Given the description of an element on the screen output the (x, y) to click on. 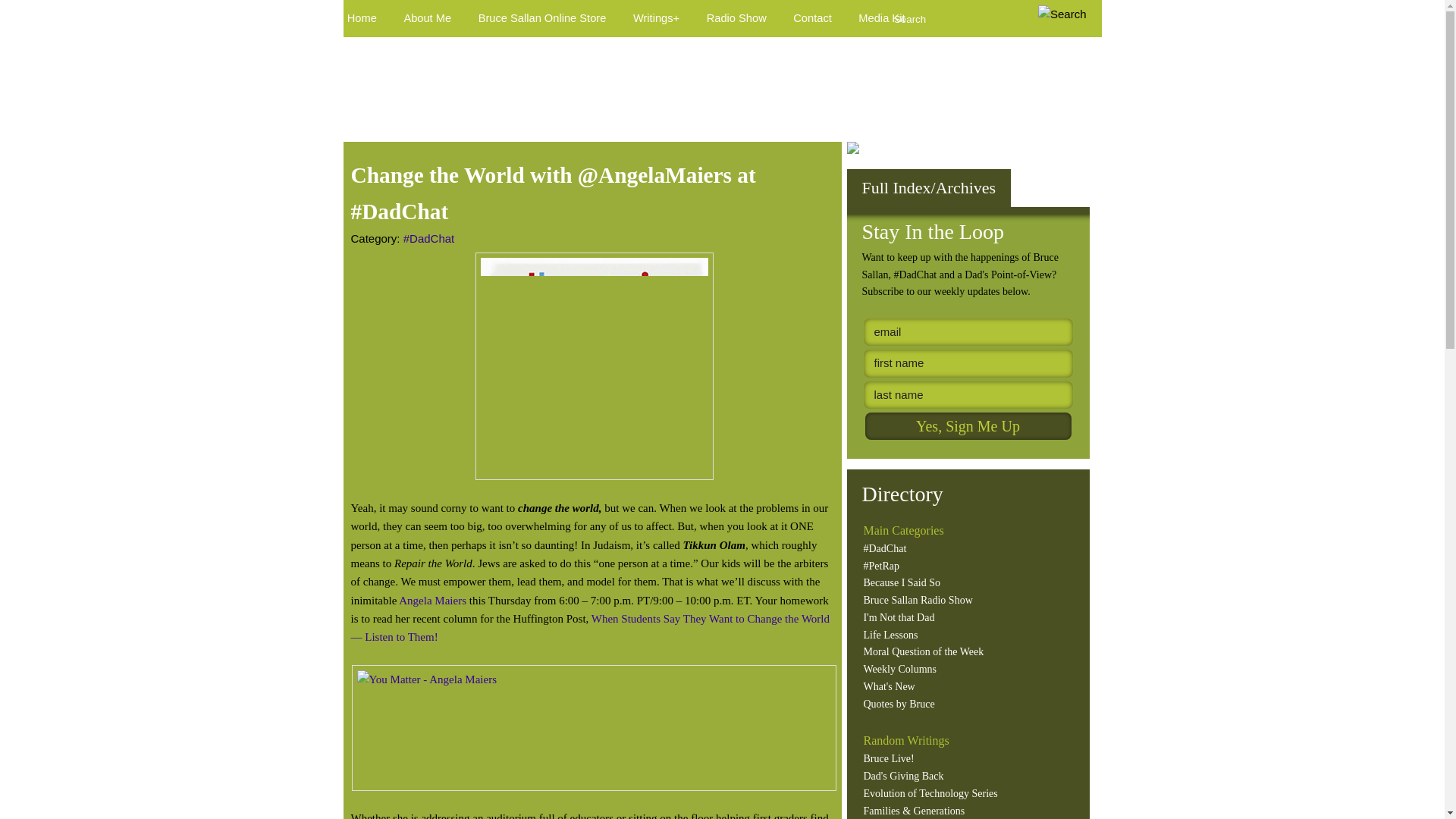
About Me (427, 18)
Home (361, 18)
Bruce Sallan Online Store (542, 18)
Search (963, 16)
Yes, Sign Me Up (967, 426)
Media Kit (881, 18)
Radio Show (736, 18)
Angela Maiers (431, 600)
Contact (811, 18)
Search (1062, 13)
